Given the description of an element on the screen output the (x, y) to click on. 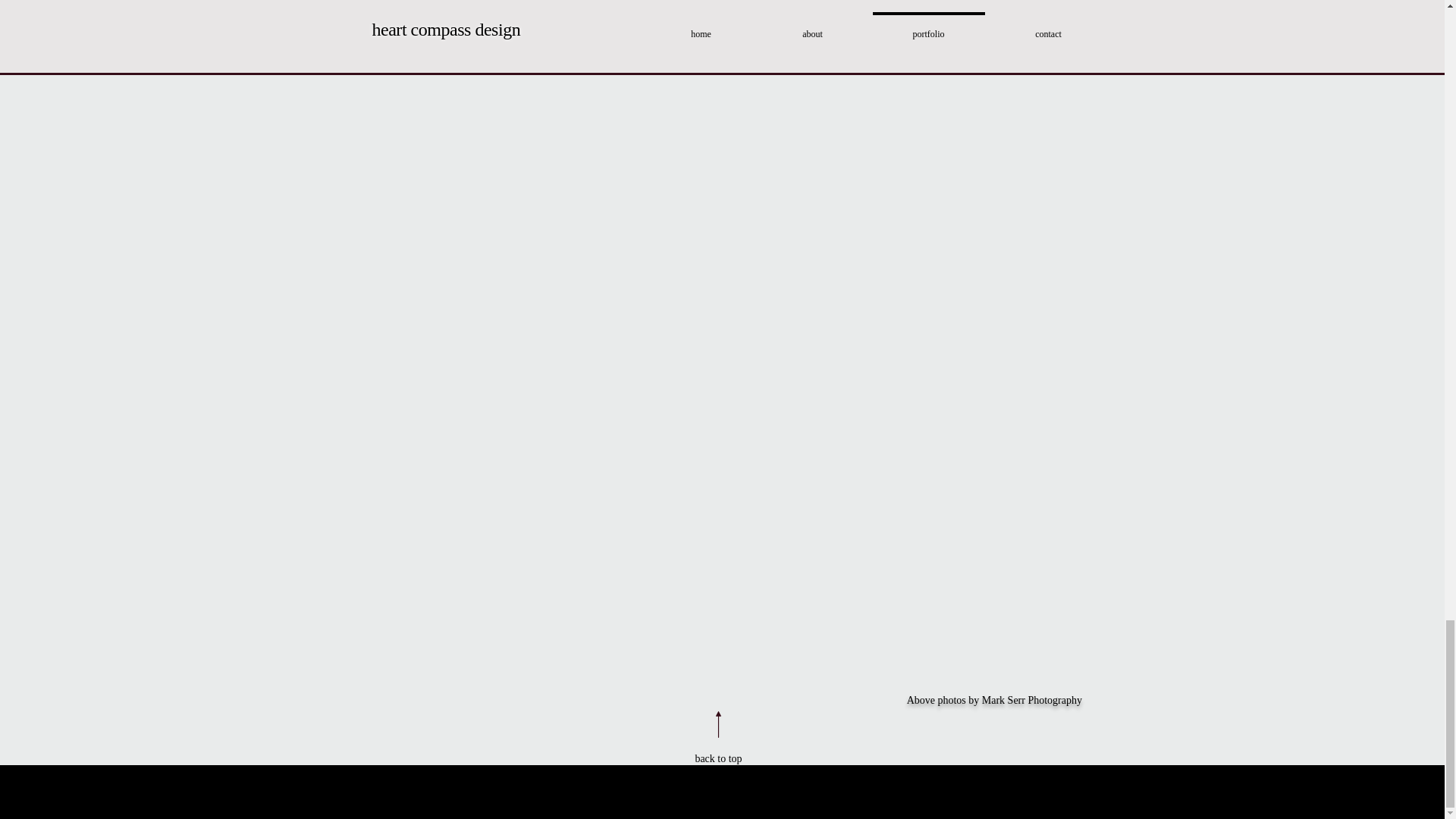
back to top (717, 758)
